Given the description of an element on the screen output the (x, y) to click on. 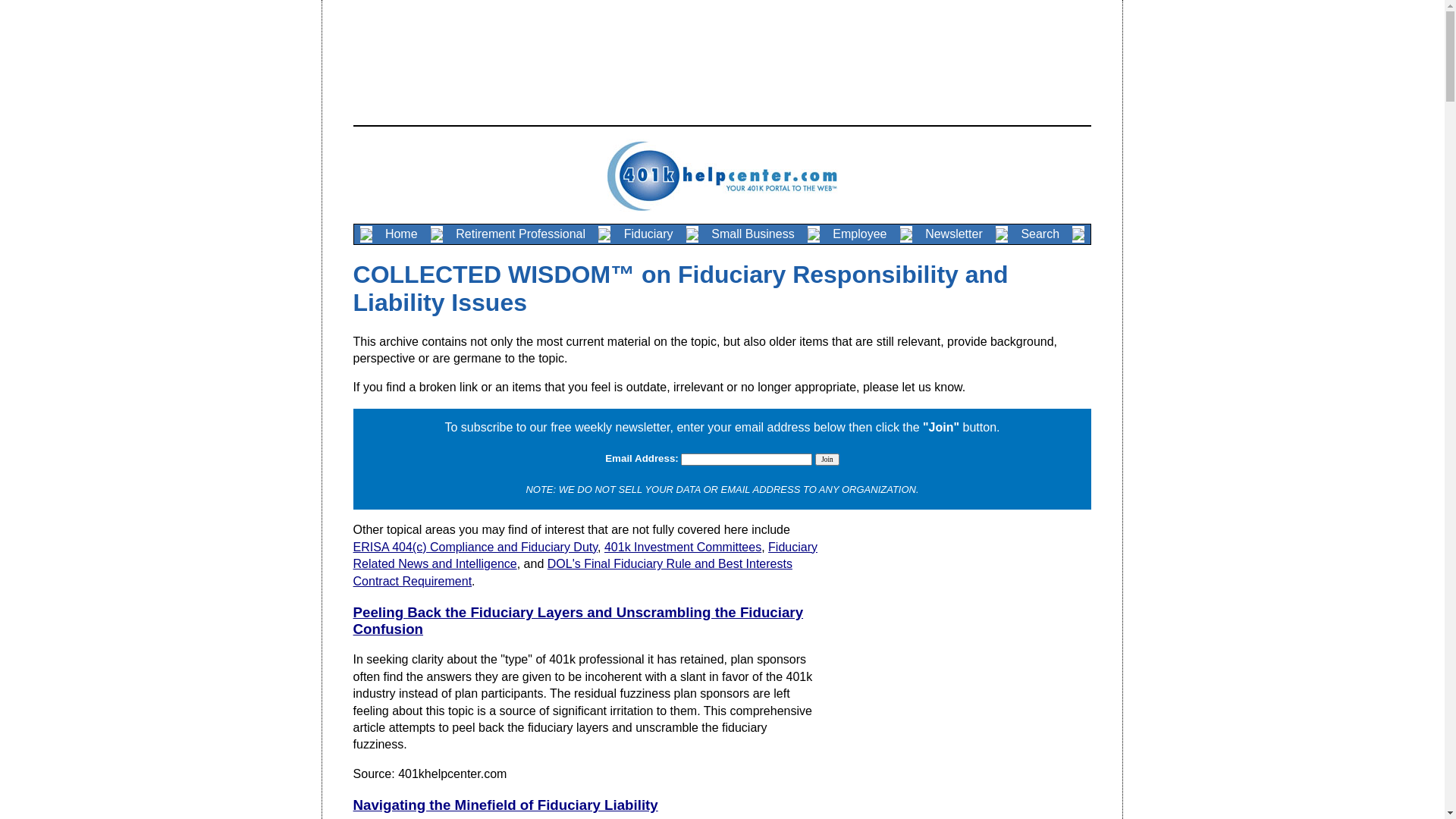
   Newsletter    Element type: text (953, 233)
   Retirement Professional    Element type: text (520, 233)
   Fiduciary    Element type: text (647, 233)
Join Element type: text (827, 459)
Advertisement Element type: hover (721, 49)
   Small Business    Element type: text (752, 233)
   Employee    Element type: text (859, 233)
   Home    Element type: text (401, 233)
ERISA 404(c) Compliance and Fiduciary Duty Element type: text (475, 546)
Navigating the Minefield of Fiduciary Liability Element type: text (505, 804)
Fiduciary Related News and Intelligence Element type: text (585, 555)
401k Investment Committees Element type: text (682, 546)
   Search    Element type: text (1039, 233)
Advertisement Element type: hover (962, 628)
